Given the description of an element on the screen output the (x, y) to click on. 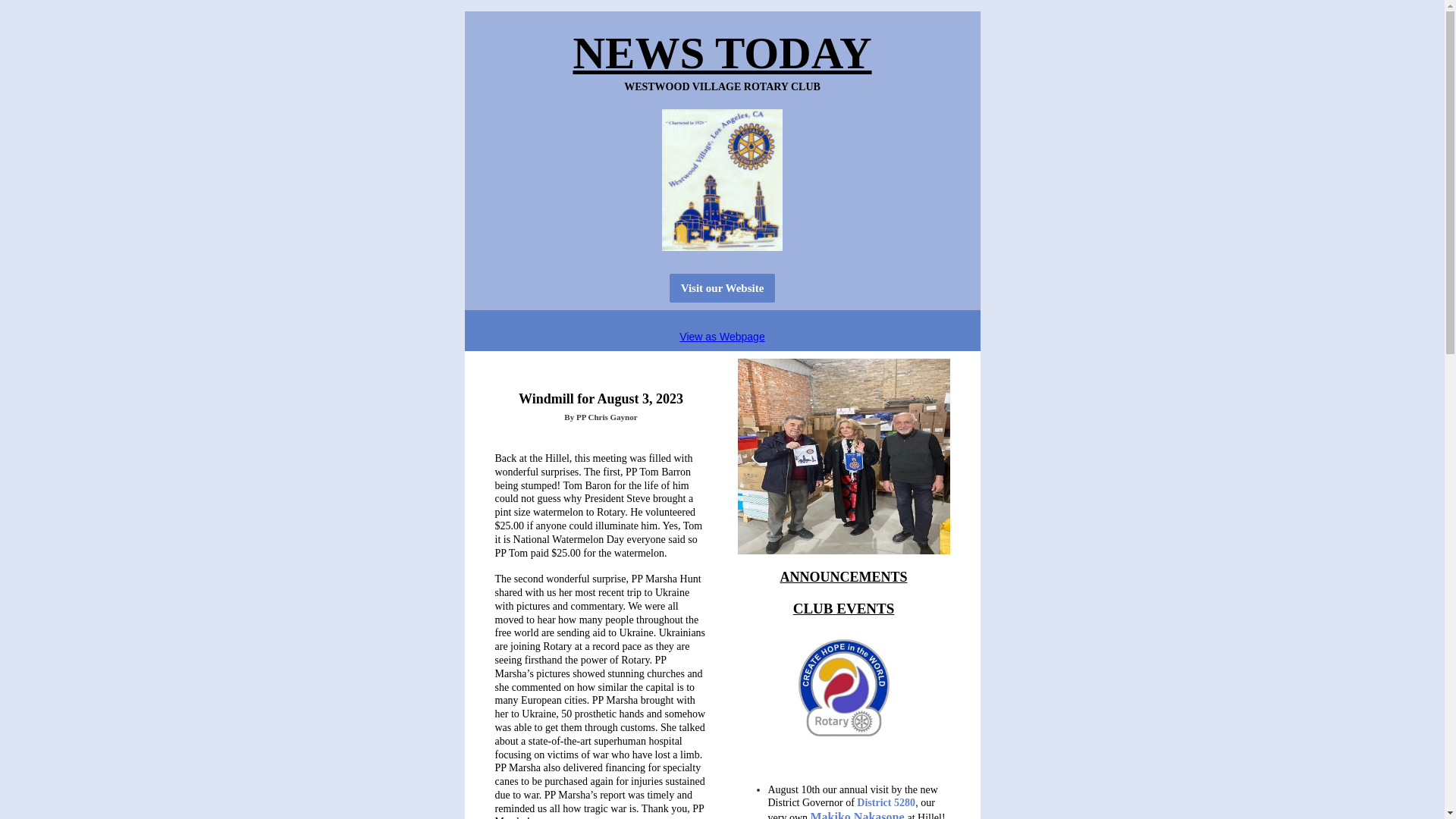
Makiko Nakasone (856, 814)
District 5280 (886, 802)
View as Webpage (721, 336)
Visit our Website (722, 287)
